Given the description of an element on the screen output the (x, y) to click on. 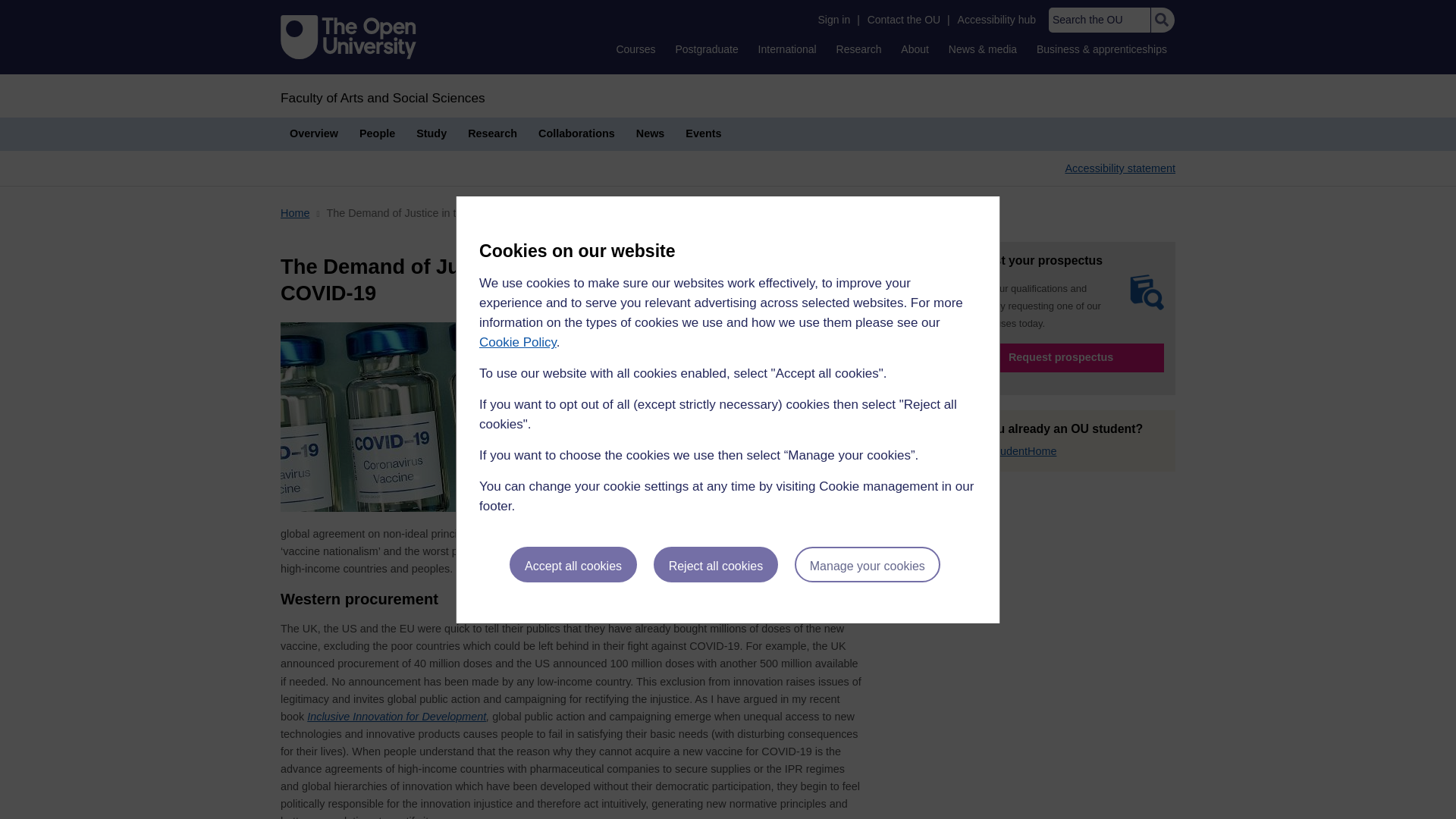
Cookie Policy (517, 341)
Postgraduate (705, 49)
International (787, 49)
Research (858, 49)
Home (382, 97)
Sign in (833, 19)
The Open University (348, 36)
Accept all cookies (573, 564)
About (914, 49)
